Given the description of an element on the screen output the (x, y) to click on. 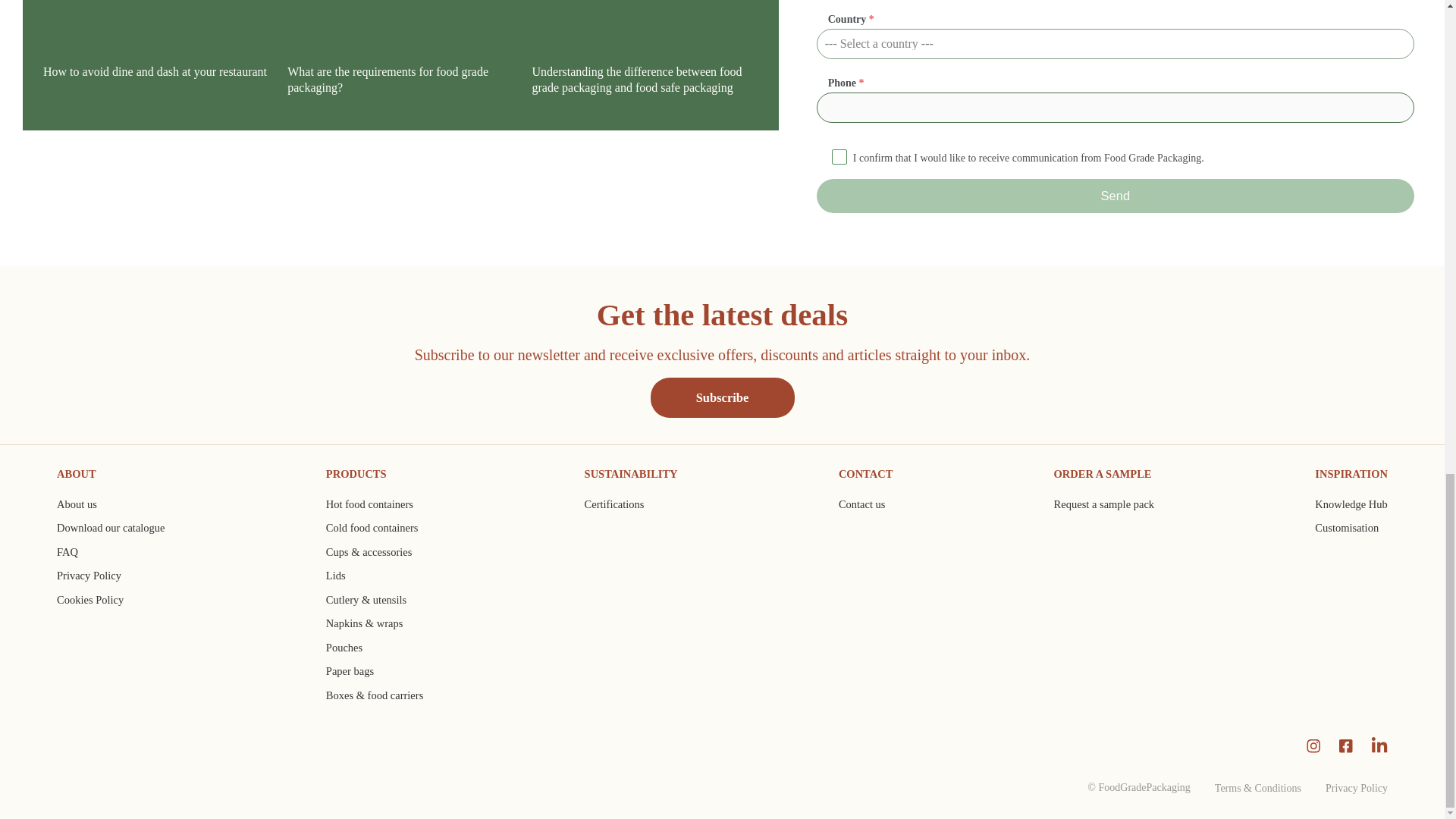
Send (1114, 195)
What are the requirements for food grade packaging? (399, 80)
How to avoid dine and dash at your restaurant (156, 72)
